Given the description of an element on the screen output the (x, y) to click on. 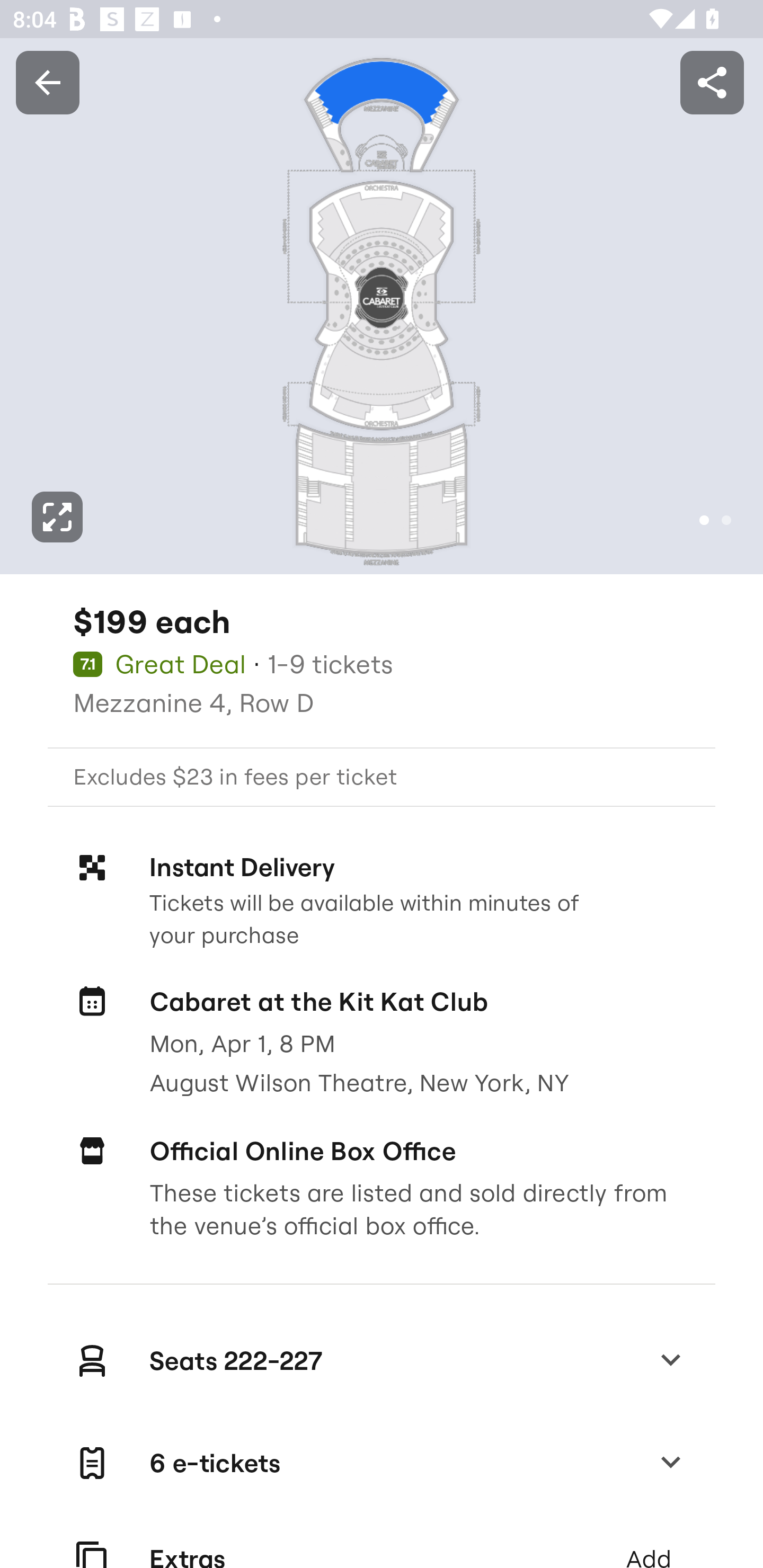
Back (47, 81)
Share (711, 81)
Expand image to fullscreen (57, 517)
Seats 222-227 Expand to show options (381, 1360)
6 e-tickets Expand to show options (381, 1463)
Extras Add (381, 1541)
Add (647, 1541)
